Given the description of an element on the screen output the (x, y) to click on. 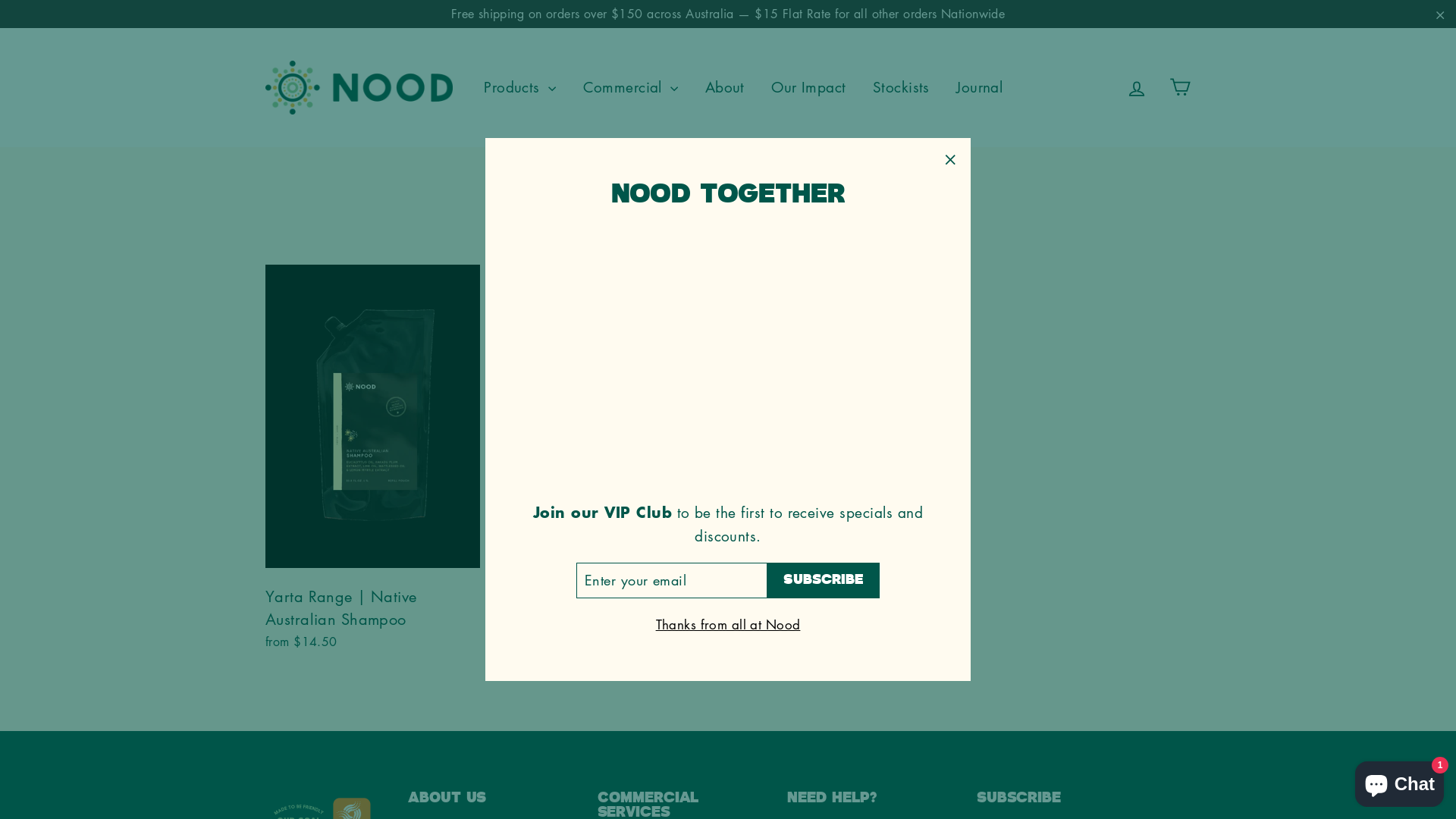
Thanks from all at Nood Element type: text (728, 624)
About Element type: text (724, 87)
Stockists Element type: text (901, 87)
Shopify online store chat Element type: hover (1399, 780)
Commercial Element type: text (630, 87)
Yarta Range | Native Australian Shampoo
from $14.50 Element type: text (372, 455)
Journal Element type: text (978, 87)
Log in Element type: text (1136, 86)
Cart Element type: text (1179, 87)
Our Impact Element type: text (807, 87)
"Close (esc)" Element type: text (949, 159)
Subscribe Element type: text (823, 580)
Products Element type: text (519, 87)
